Given the description of an element on the screen output the (x, y) to click on. 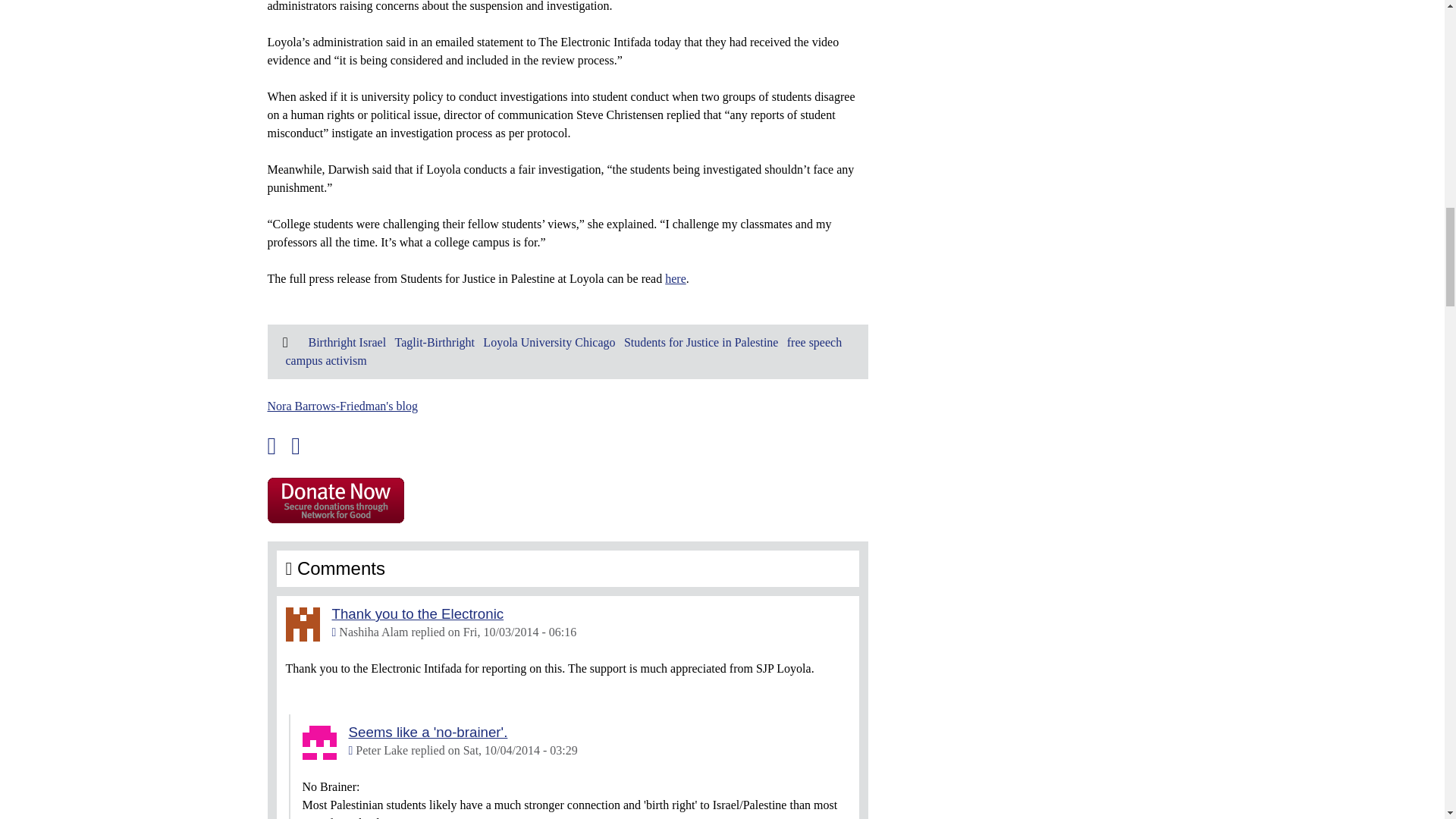
Nora Barrows-Friedman's blog (341, 405)
free speech (814, 341)
Thank you to the Electronic (417, 613)
Read Nora Barrows-Friedman's latest blog entries. (341, 405)
Birthright Israel (346, 341)
Taglit-Birthright (434, 341)
campus activism (325, 359)
here (675, 278)
Seems like a 'no-brainer'. (428, 731)
Students for Justice in Palestine (701, 341)
Loyola University Chicago (548, 341)
